Given the description of an element on the screen output the (x, y) to click on. 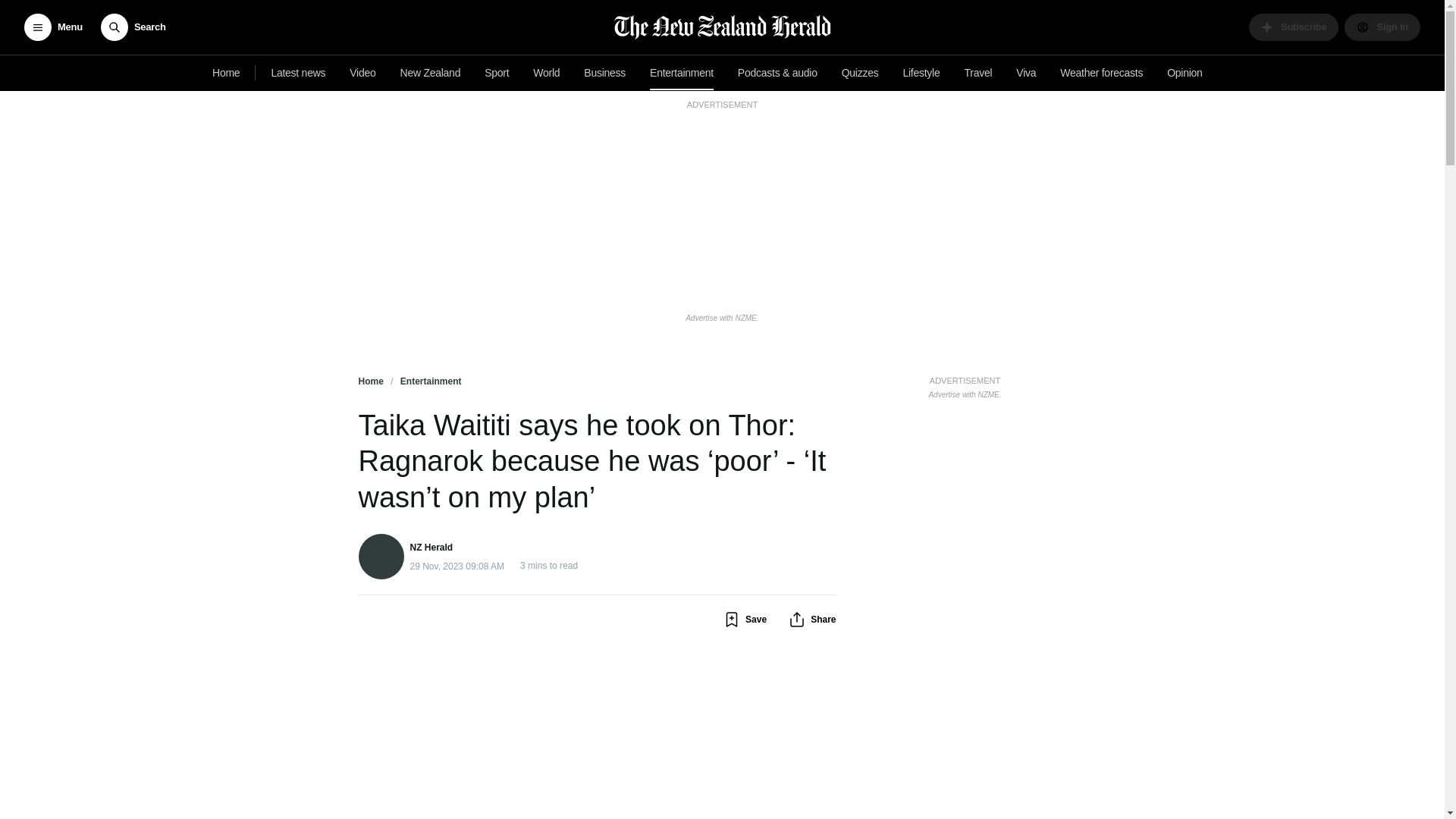
Business (604, 72)
Opinion (1184, 72)
Latest news (298, 72)
Search (132, 26)
Menu (53, 26)
World (546, 72)
Home (225, 72)
Sign In (1382, 26)
Lifestyle (921, 72)
Subscribe (1294, 26)
